Given the description of an element on the screen output the (x, y) to click on. 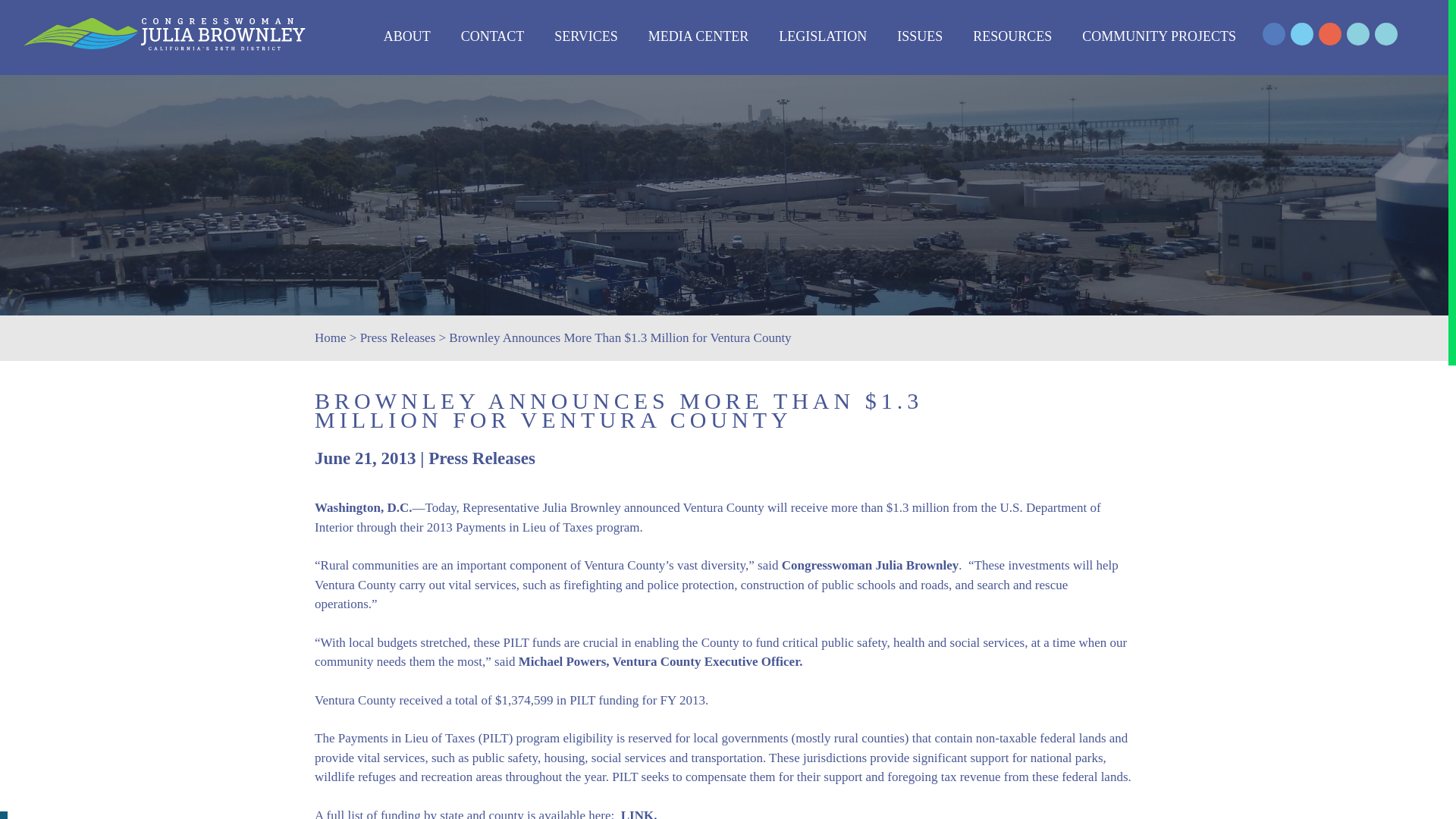
Twitter (1301, 33)
CONTACT (492, 36)
YouTube (1358, 33)
ABOUT (407, 36)
Go to the Press Releases category archives. (397, 337)
Facebook (1273, 33)
MEDIA CENTER (698, 36)
Go to Congresswoman Julia Brownley. (330, 337)
Instagram (1329, 33)
Congresswoman Julia Brownley (165, 34)
